Given the description of an element on the screen output the (x, y) to click on. 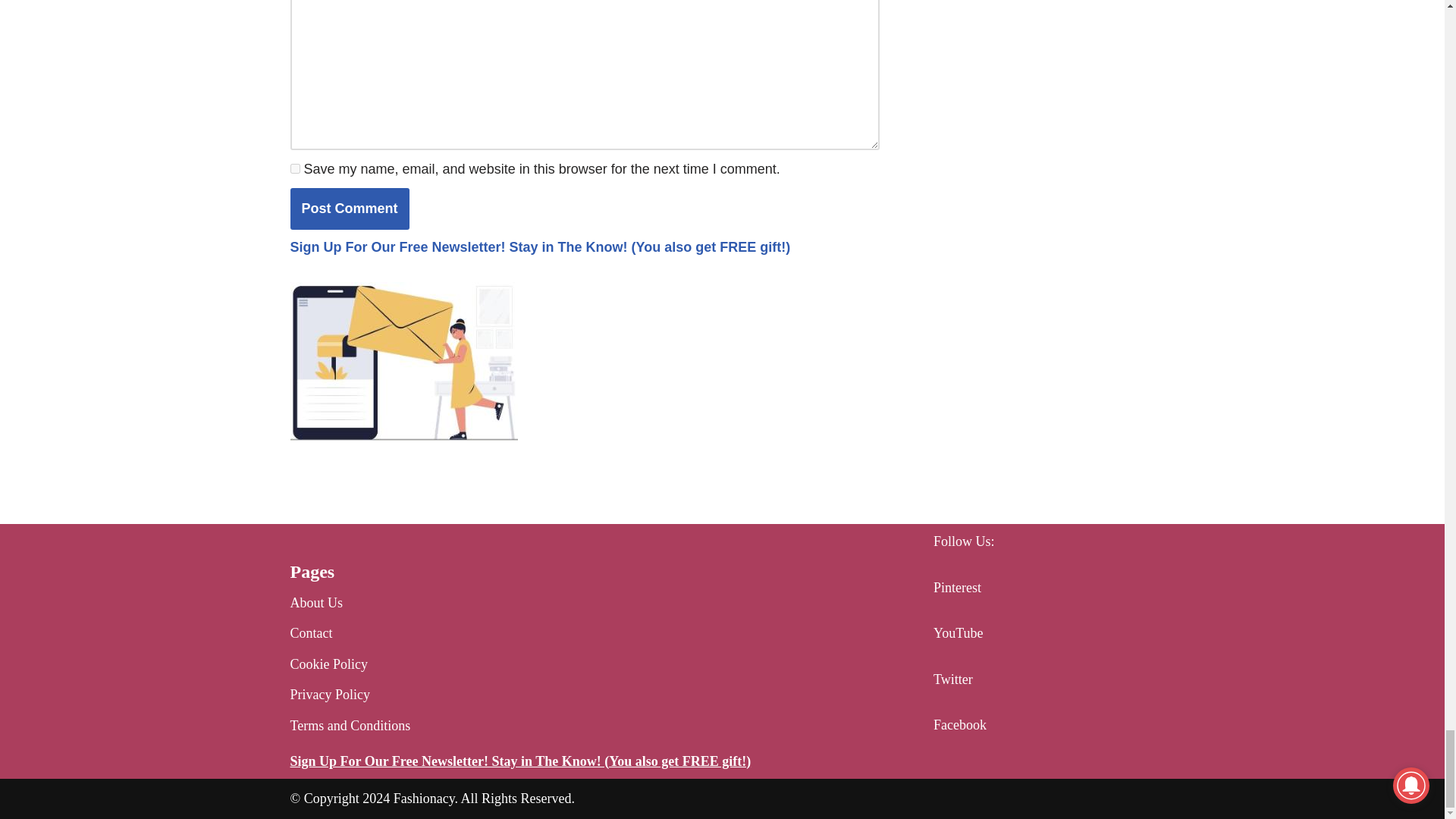
yes (294, 168)
Post Comment (349, 209)
